Given the description of an element on the screen output the (x, y) to click on. 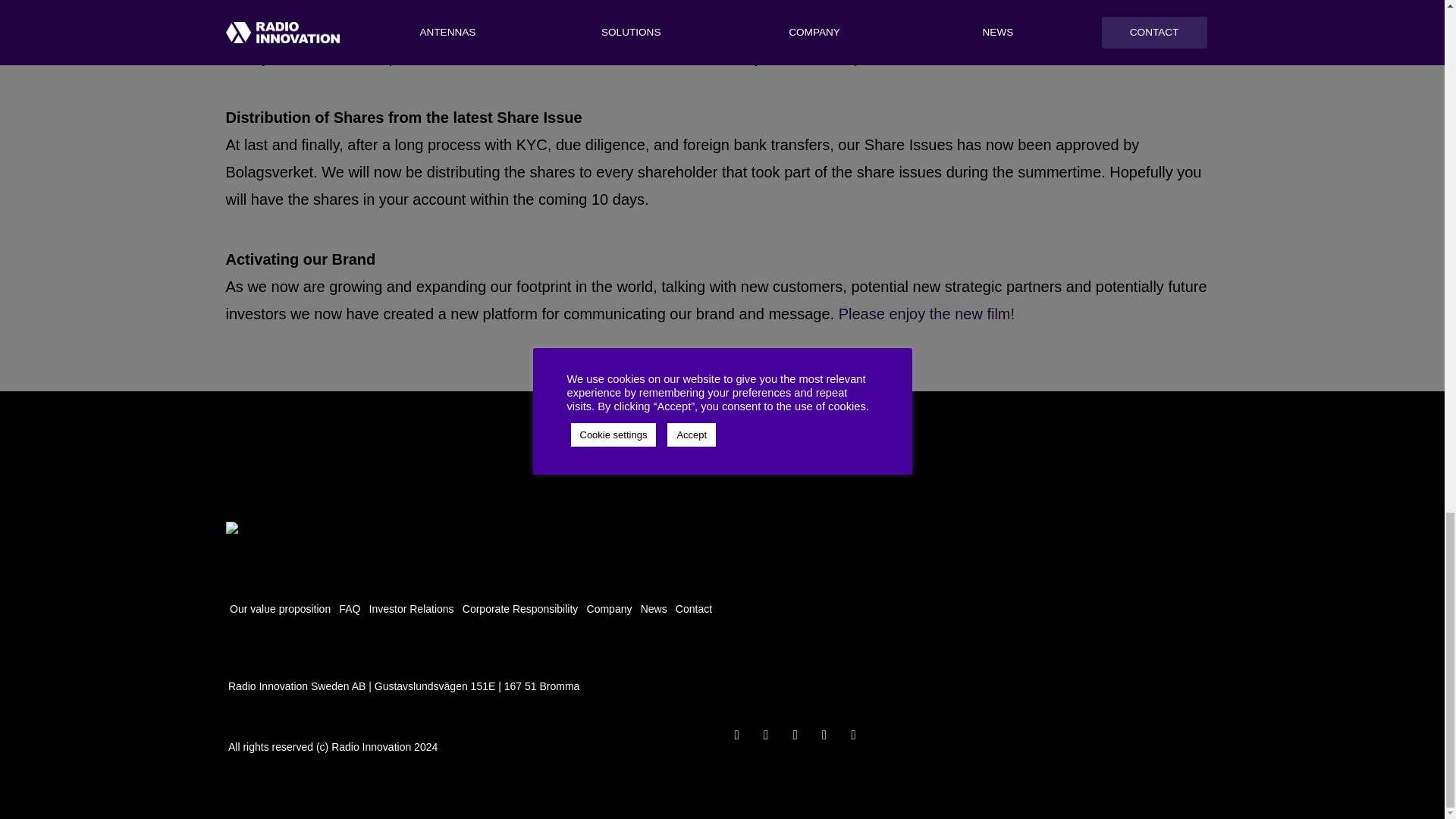
FAQ (349, 605)
News (653, 605)
Please enjoy the new film! (926, 313)
Investor Relations (411, 605)
Corporate Responsibility (520, 605)
Company (609, 605)
Our value proposition (279, 605)
Contact (693, 605)
